Given the description of an element on the screen output the (x, y) to click on. 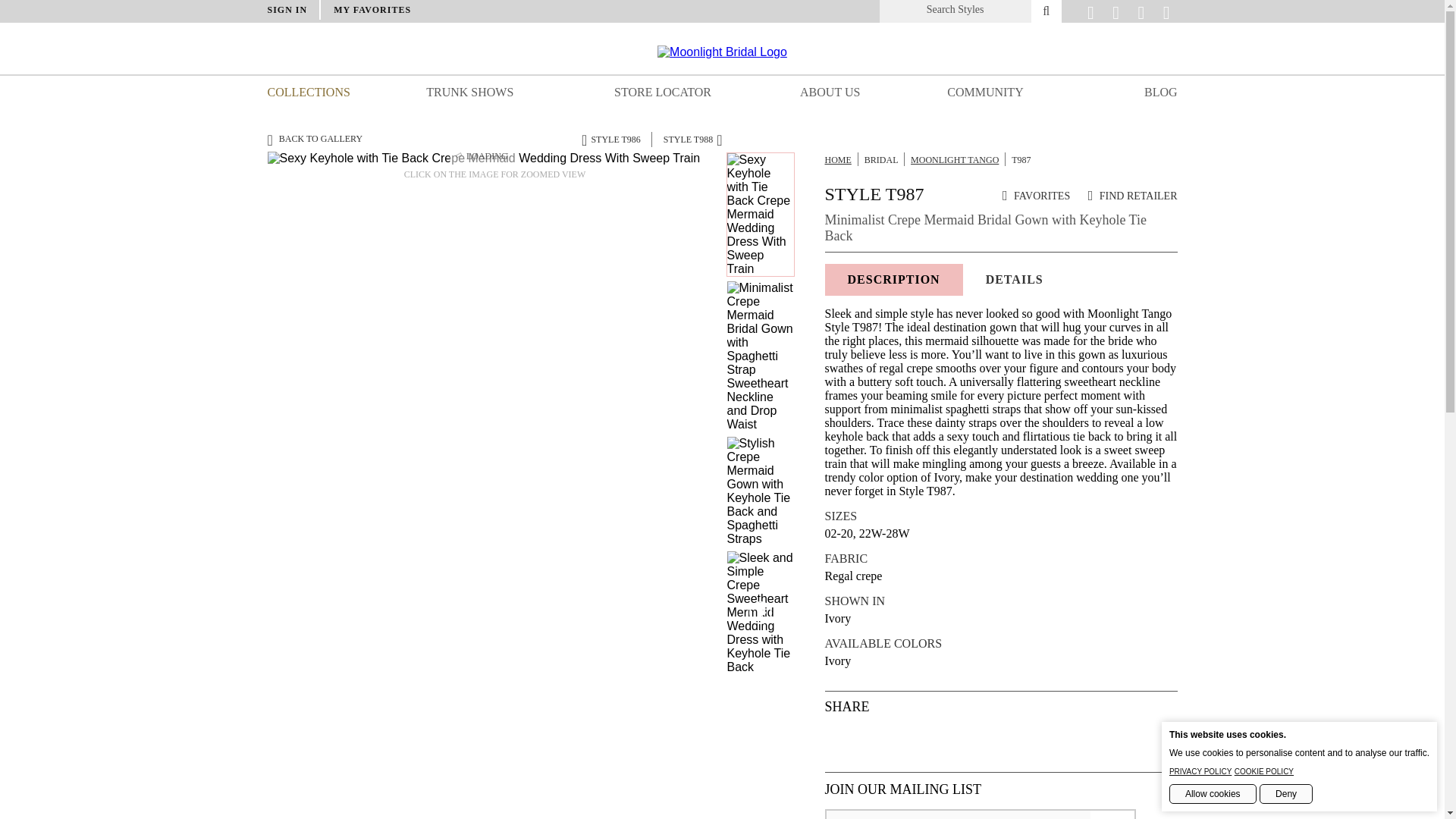
SIGN IN (286, 9)
MY FAVORITES (371, 9)
